Given the description of an element on the screen output the (x, y) to click on. 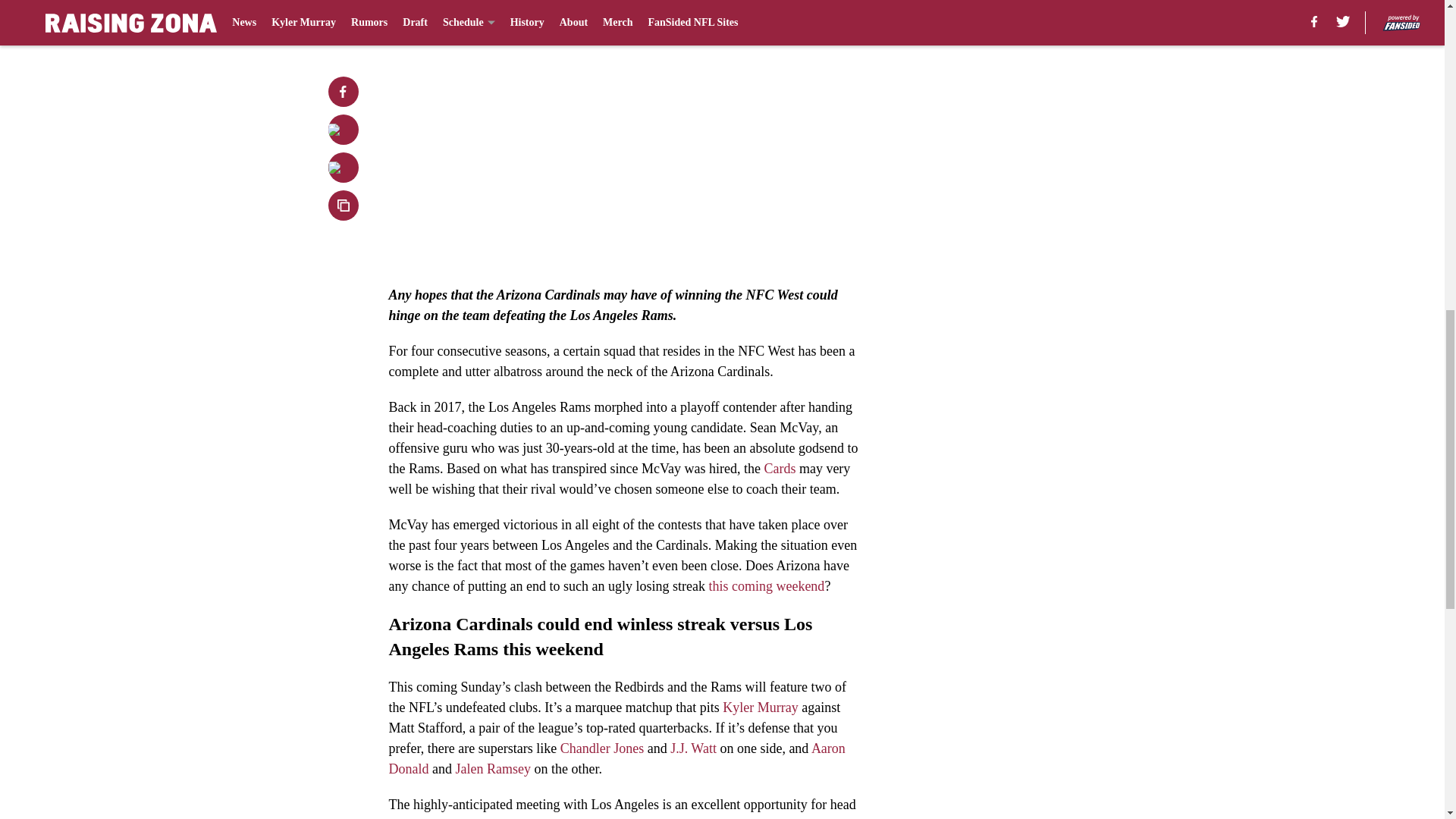
Jalen Ramsey (491, 768)
Chandler Jones (601, 748)
this coming weekend (765, 585)
Aaron Donald (616, 758)
Cards (778, 468)
J.J. Watt (692, 748)
Kyler Murray (759, 707)
